Given the description of an element on the screen output the (x, y) to click on. 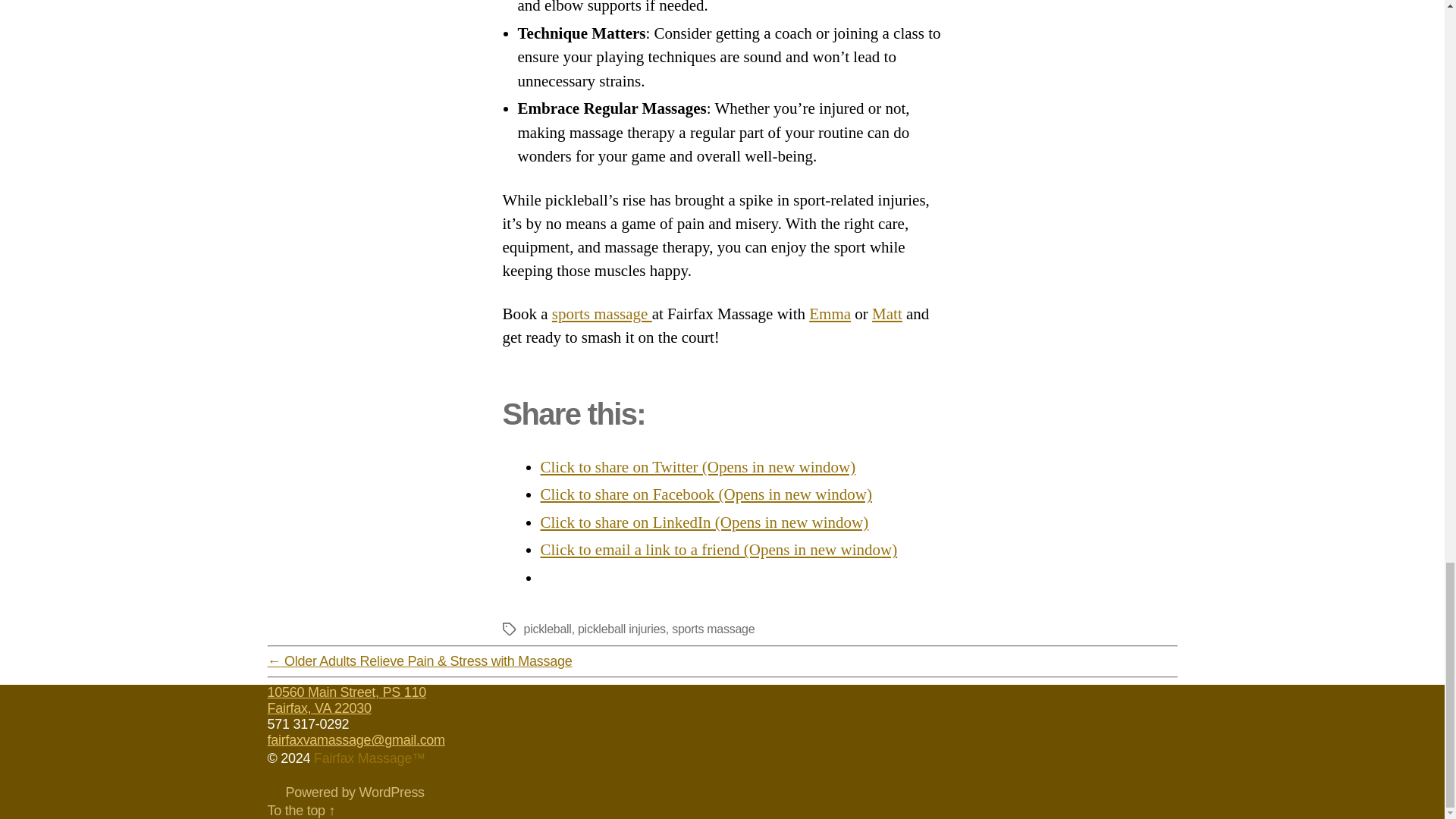
Click to share on Twitter (698, 466)
Click to share on LinkedIn (703, 522)
Click to share on Facebook (705, 494)
Click to email a link to a friend (718, 549)
